Given the description of an element on the screen output the (x, y) to click on. 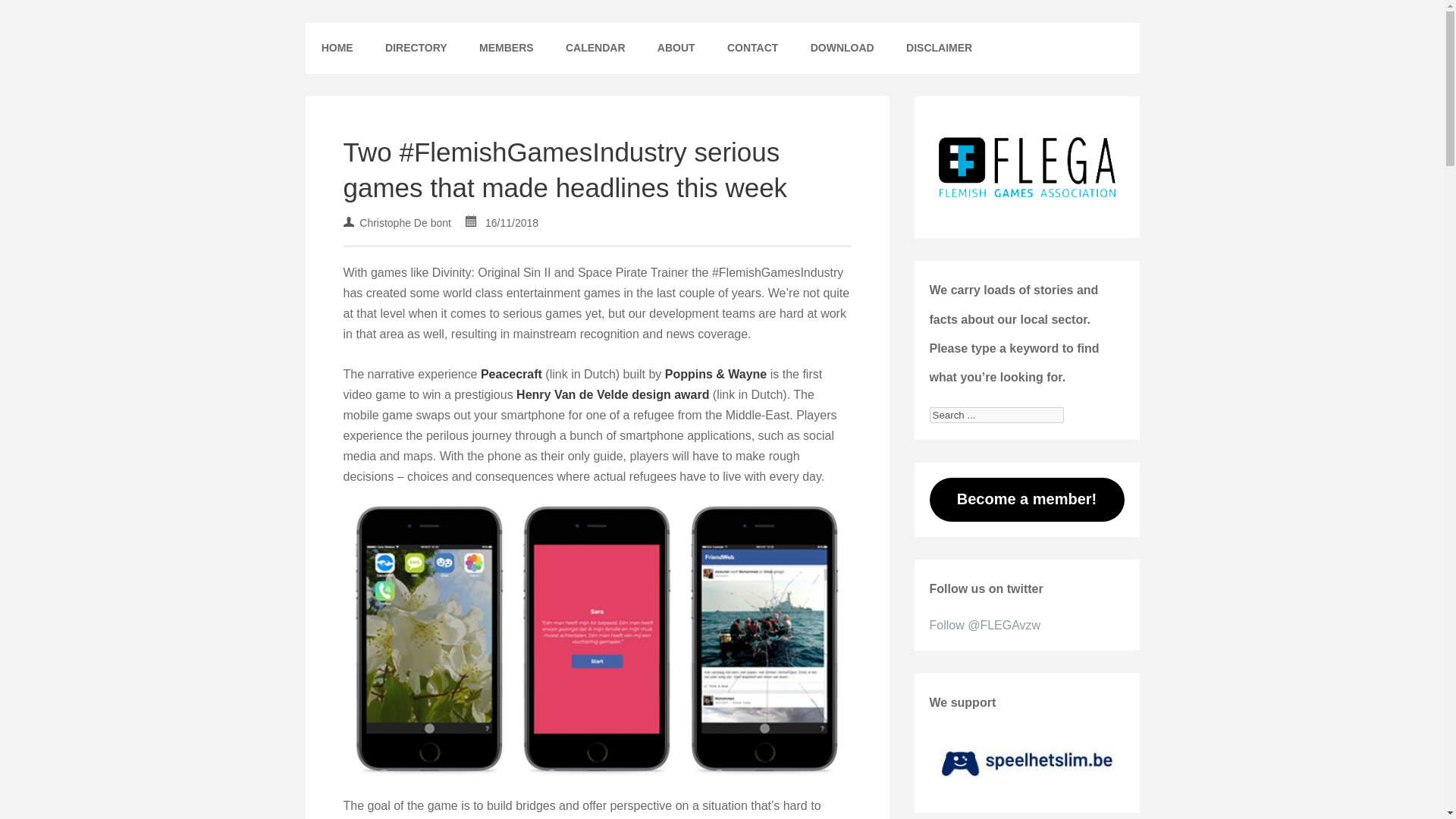
CONTACT (752, 47)
DIRECTORY (416, 47)
CALENDAR (596, 47)
FLEGA (342, 33)
Search ... (997, 415)
Peacecraft (510, 373)
Become a member! (1027, 499)
MEMBERS (506, 47)
Search ... (997, 415)
ABOUT (676, 47)
HOME (336, 47)
Henry Van de Velde design award (612, 394)
DOWNLOAD (841, 47)
DISCLAIMER (938, 47)
